Given the description of an element on the screen output the (x, y) to click on. 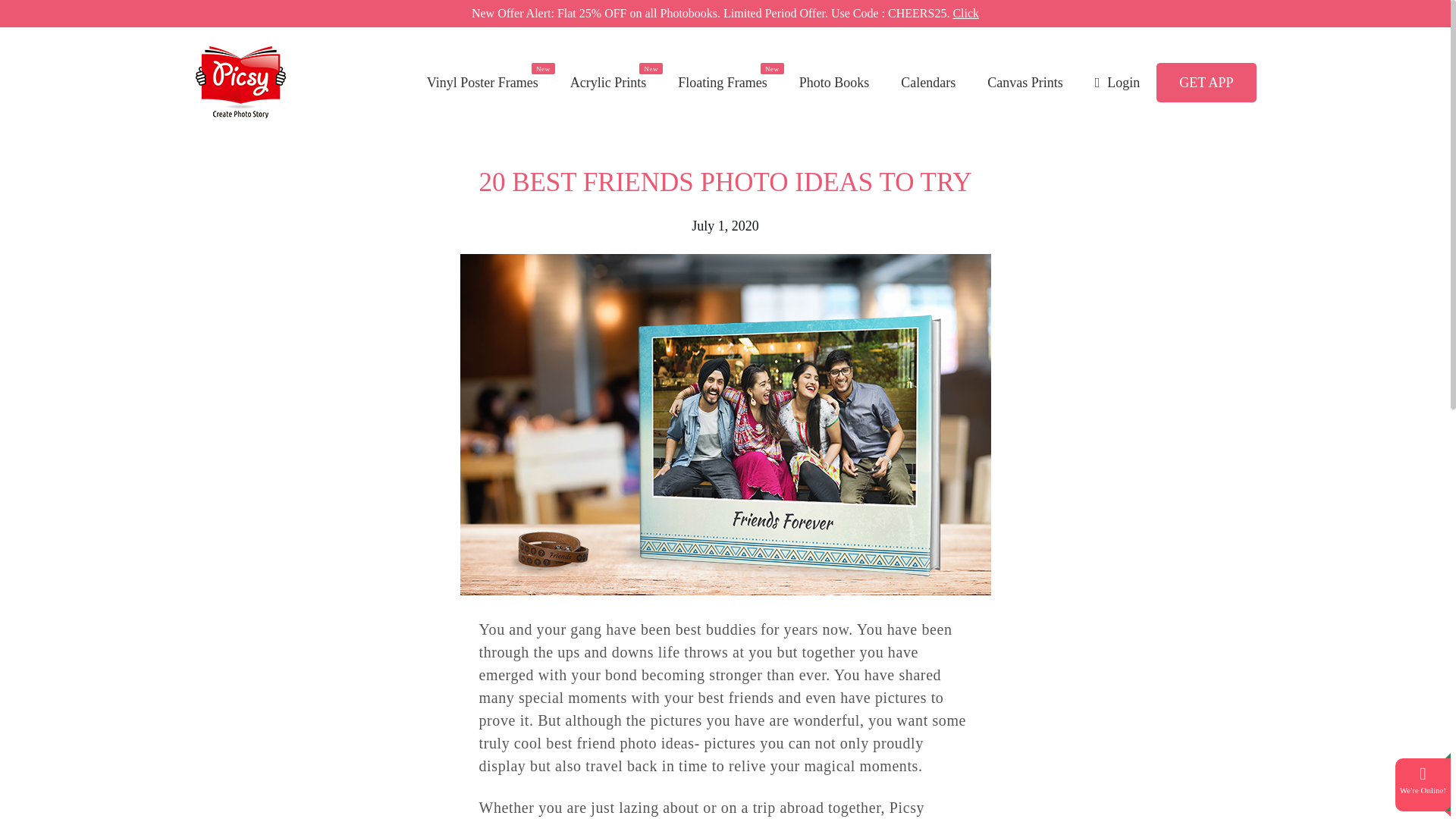
Canvas Prints (1025, 81)
Photo Books (834, 81)
GET APP (1205, 81)
Click (965, 12)
Login (1118, 81)
Acrylic Prints (608, 81)
Click (965, 12)
Floating Frames (722, 81)
Vinyl Poster Frames (482, 81)
Calendars (928, 81)
